Given the description of an element on the screen output the (x, y) to click on. 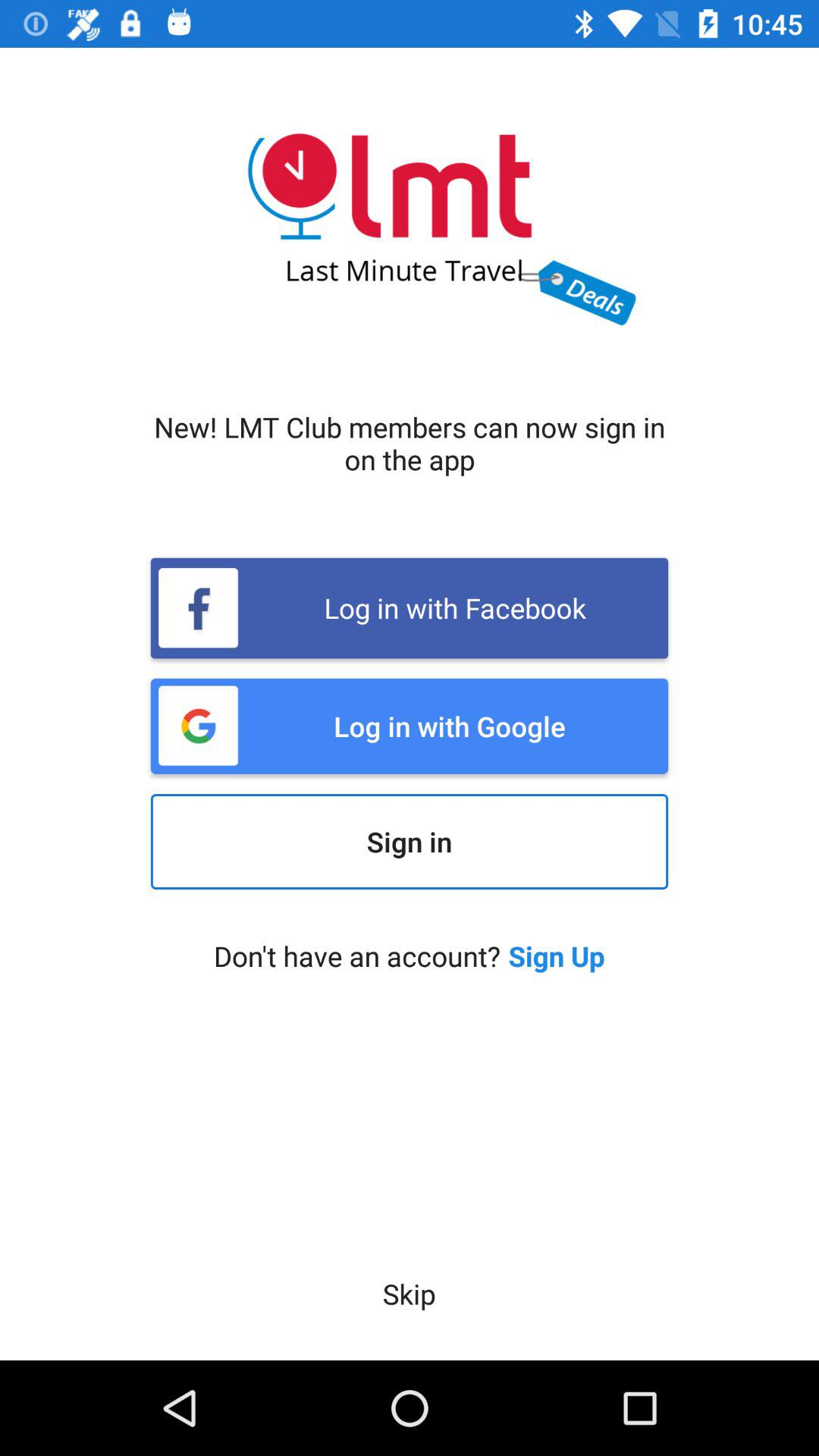
press the icon below the sign in (556, 955)
